Given the description of an element on the screen output the (x, y) to click on. 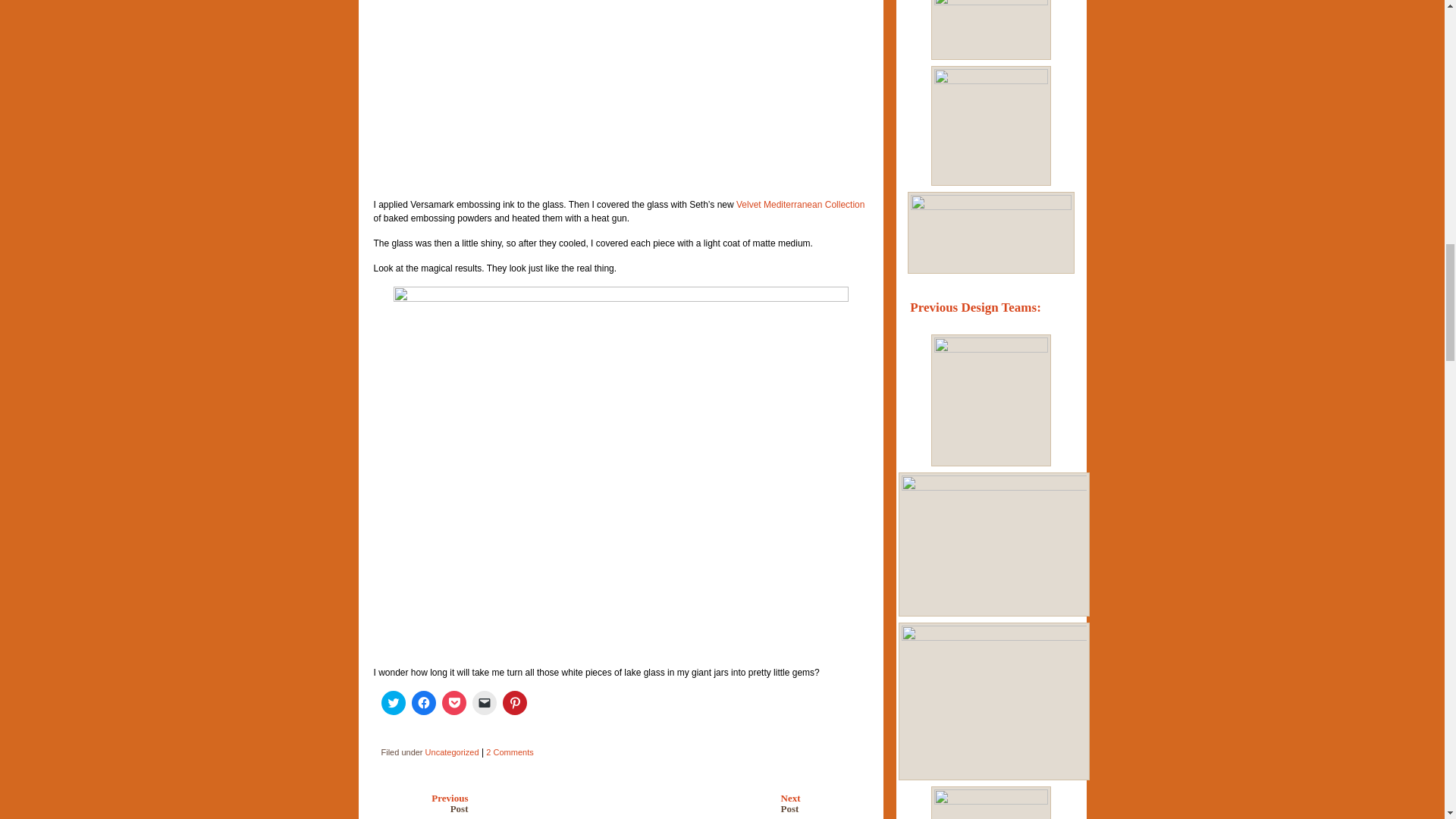
Click to share on Facebook (422, 702)
2 Comments (509, 751)
Click to share on Twitter (425, 800)
Click to share on Pinterest (392, 702)
Uncategorized (513, 702)
Velvet Mediterranean Collection (452, 751)
Click to email a link to a friend (800, 204)
Click to share on Pocket (814, 800)
